Given the description of an element on the screen output the (x, y) to click on. 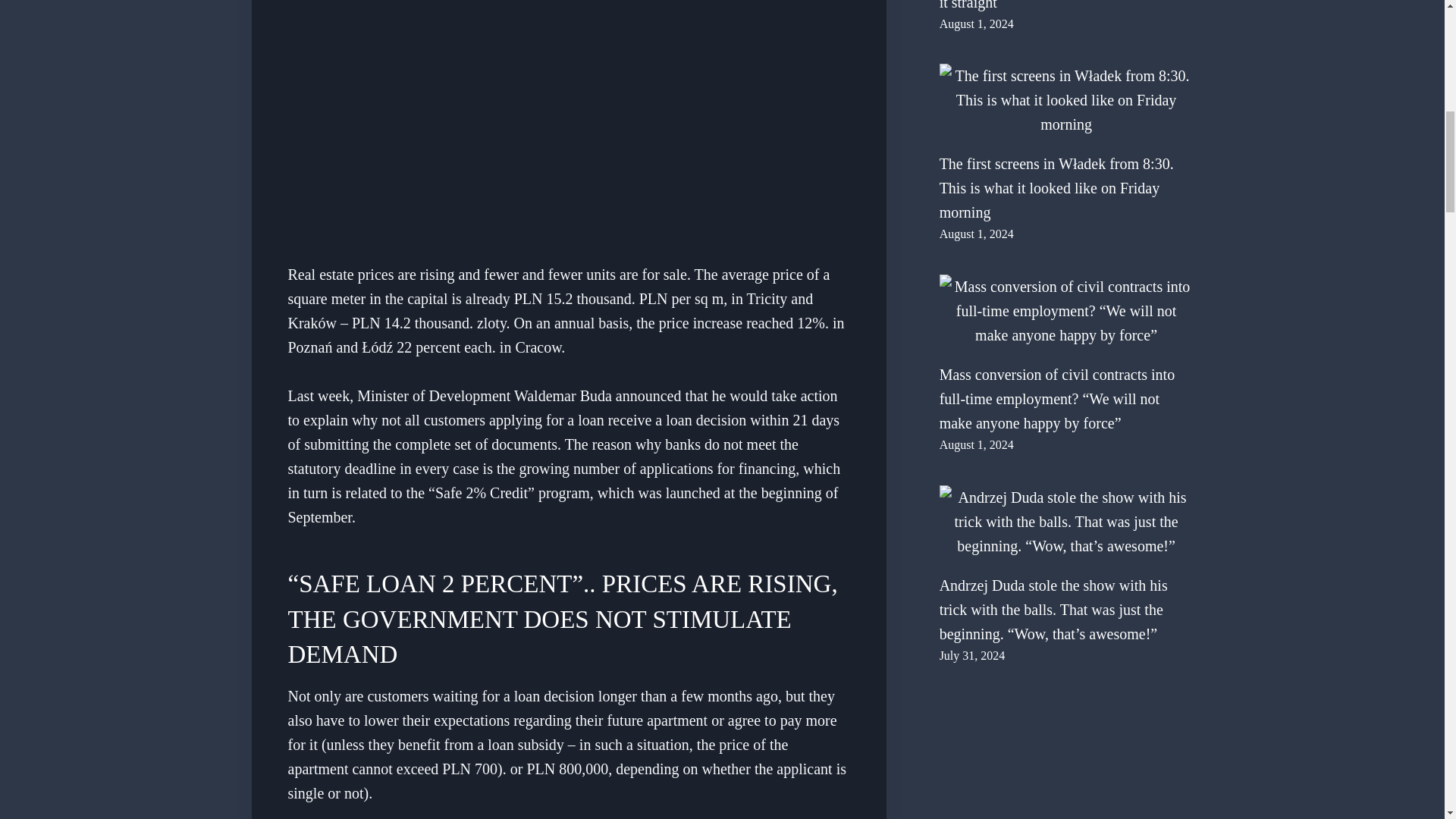
1:27 am (976, 444)
6:27 am (976, 23)
August 1, 2024 (976, 444)
August 1, 2024 (976, 23)
August 1, 2024 (976, 233)
July 31, 2024 (972, 655)
9:26 pm (972, 655)
5:26 am (976, 233)
